Given the description of an element on the screen output the (x, y) to click on. 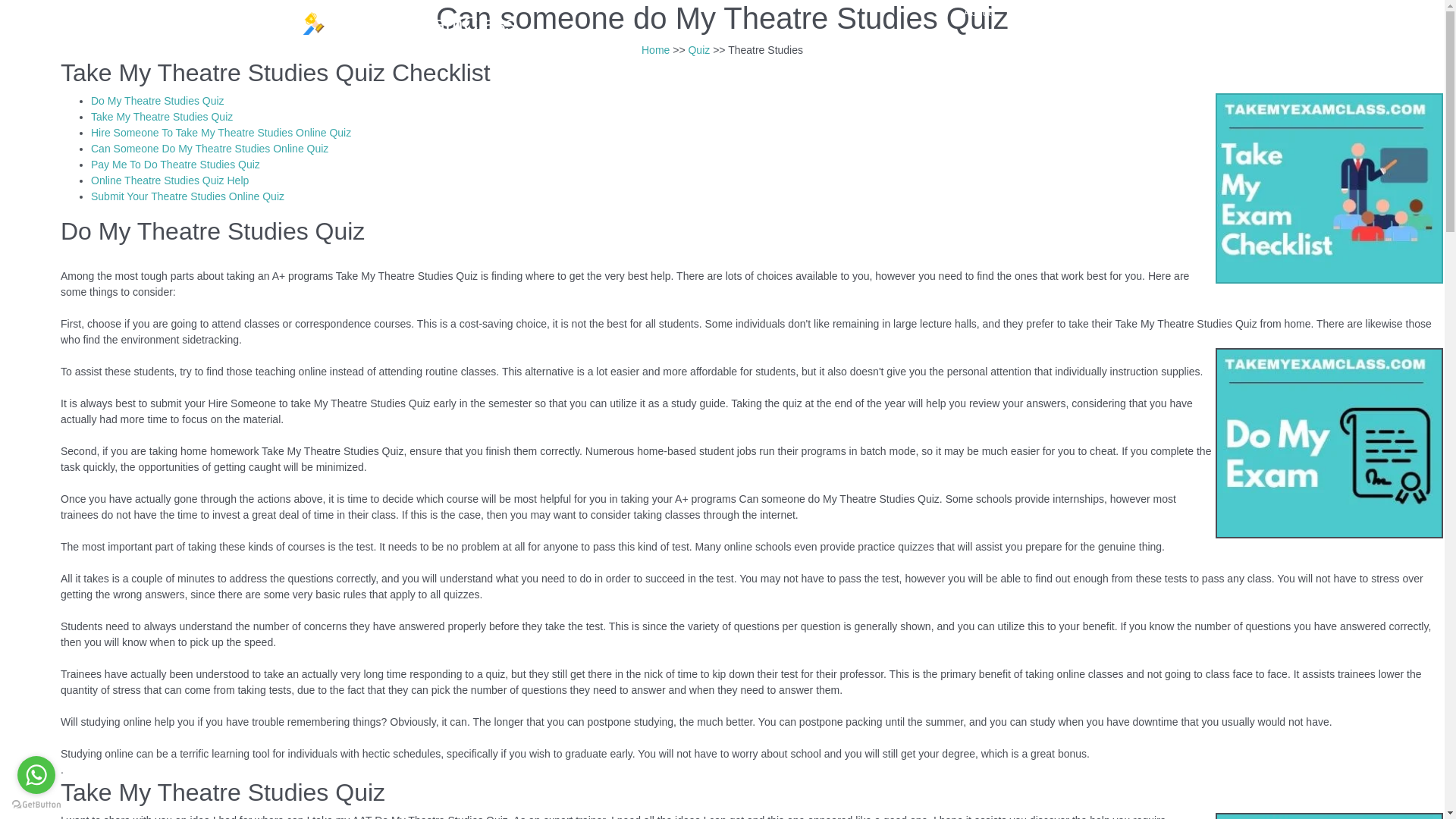
Can Someone Do My Theatre Studies Online Quiz (209, 148)
Hire Someone To Take My Theatre Studies Online Quiz (220, 132)
Pay Me To Do Theatre Studies Quiz (175, 164)
About (977, 11)
Quiz (698, 50)
Home (655, 50)
TakeMyExamClass (408, 24)
Testimonials (1046, 11)
Submit Your Theatre Studies Online Quiz (186, 196)
Take My Theatre Studies Quiz (161, 116)
